Given the description of an element on the screen output the (x, y) to click on. 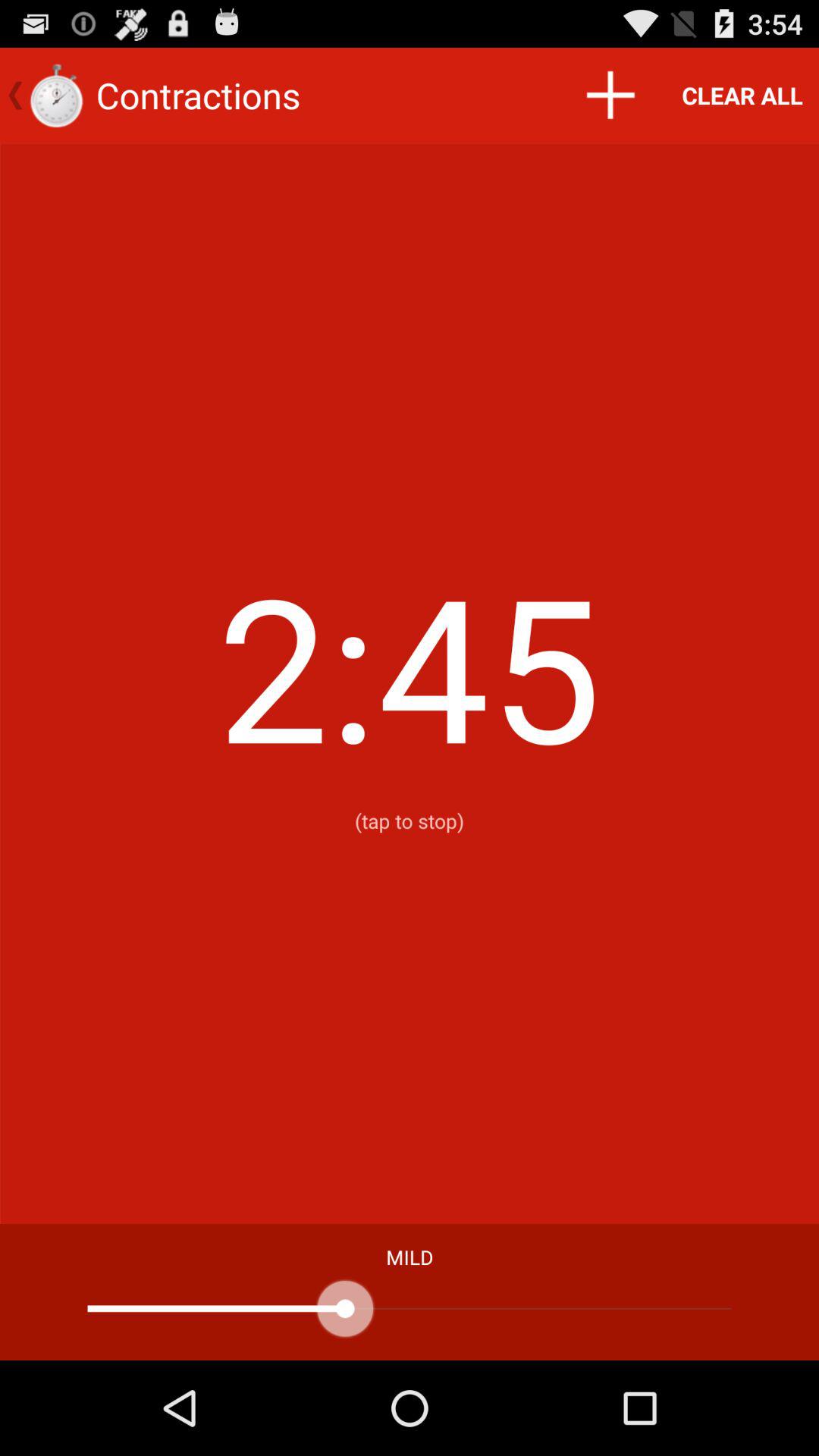
click app next to the contractions icon (610, 95)
